Given the description of an element on the screen output the (x, y) to click on. 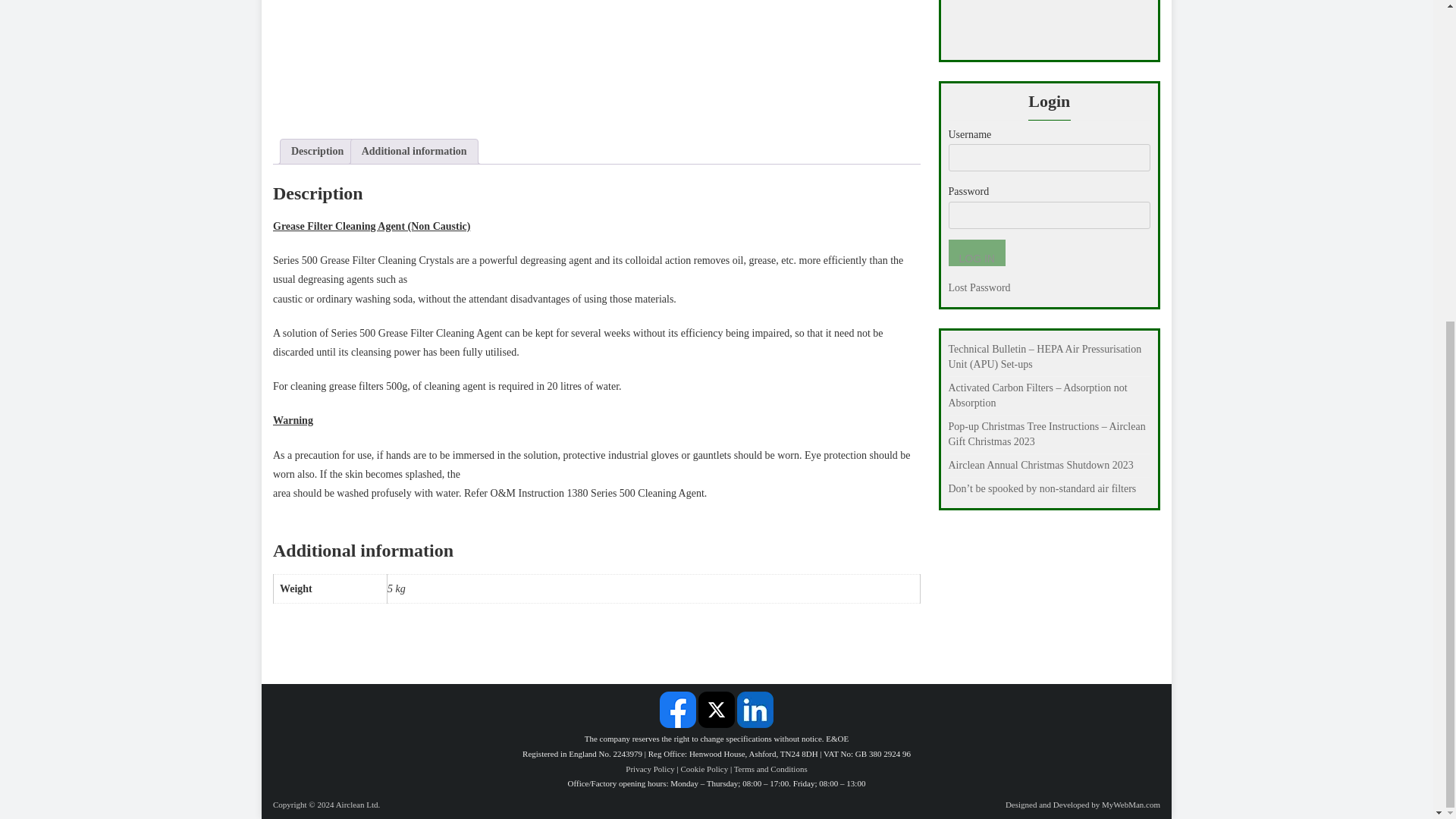
Log In (975, 252)
